Given the description of an element on the screen output the (x, y) to click on. 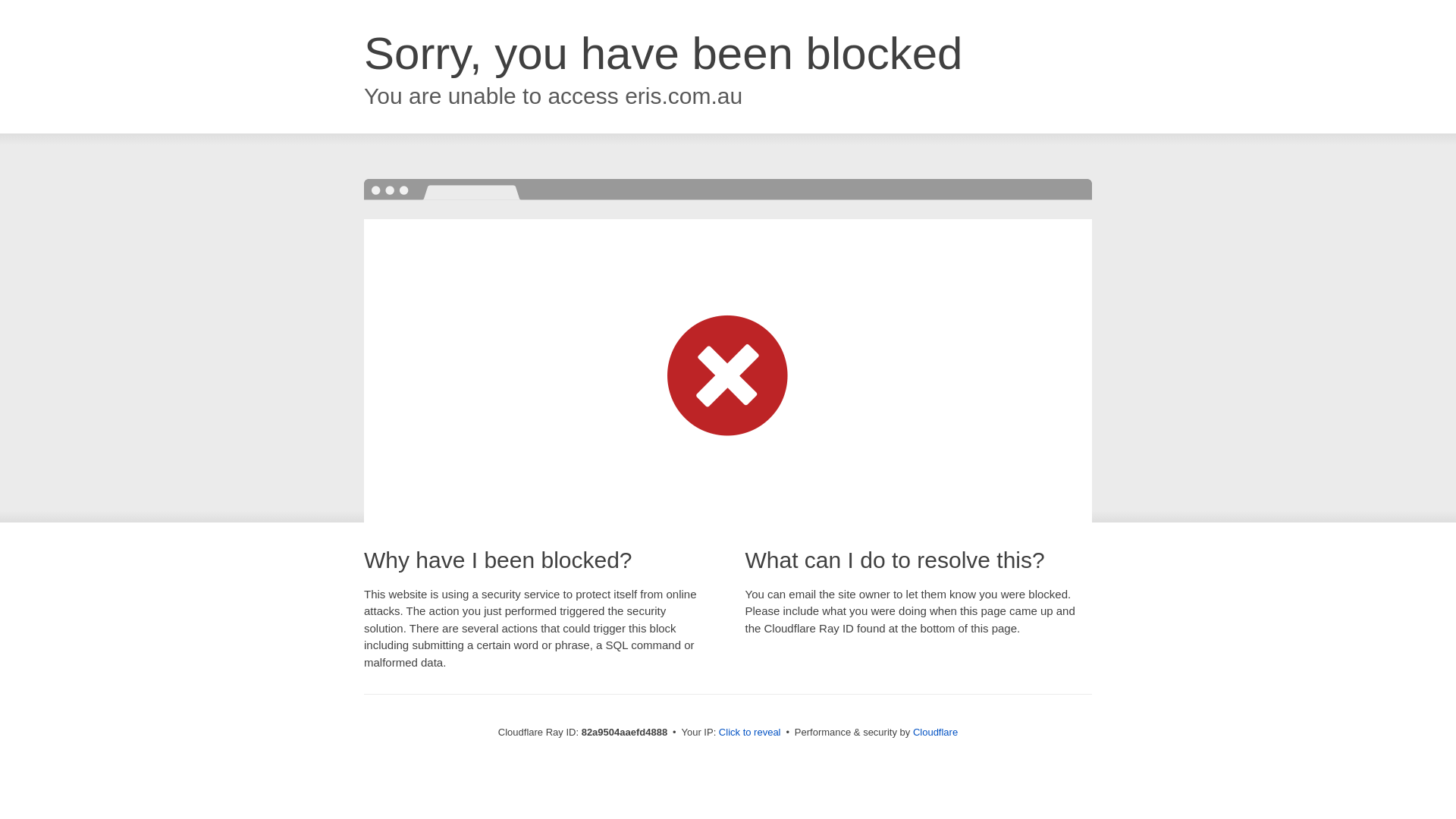
Click to reveal Element type: text (749, 732)
Cloudflare Element type: text (935, 731)
